Given the description of an element on the screen output the (x, y) to click on. 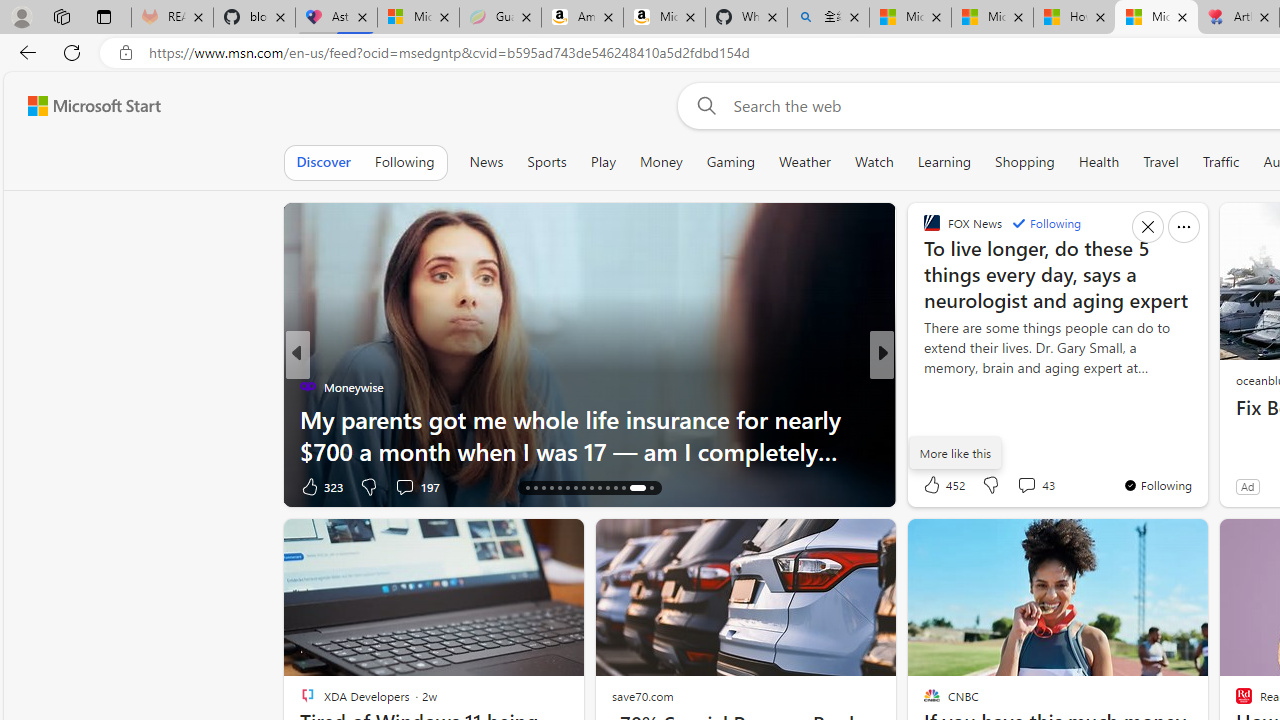
Shopping (1025, 161)
HowToGeek (923, 386)
AutomationID: tab-21 (567, 487)
AutomationID: tab-27 (614, 487)
Traffic (1220, 161)
AutomationID: tab-20 (559, 487)
Sports (546, 162)
Travel (1160, 161)
Moneywise (307, 386)
